Given the description of an element on the screen output the (x, y) to click on. 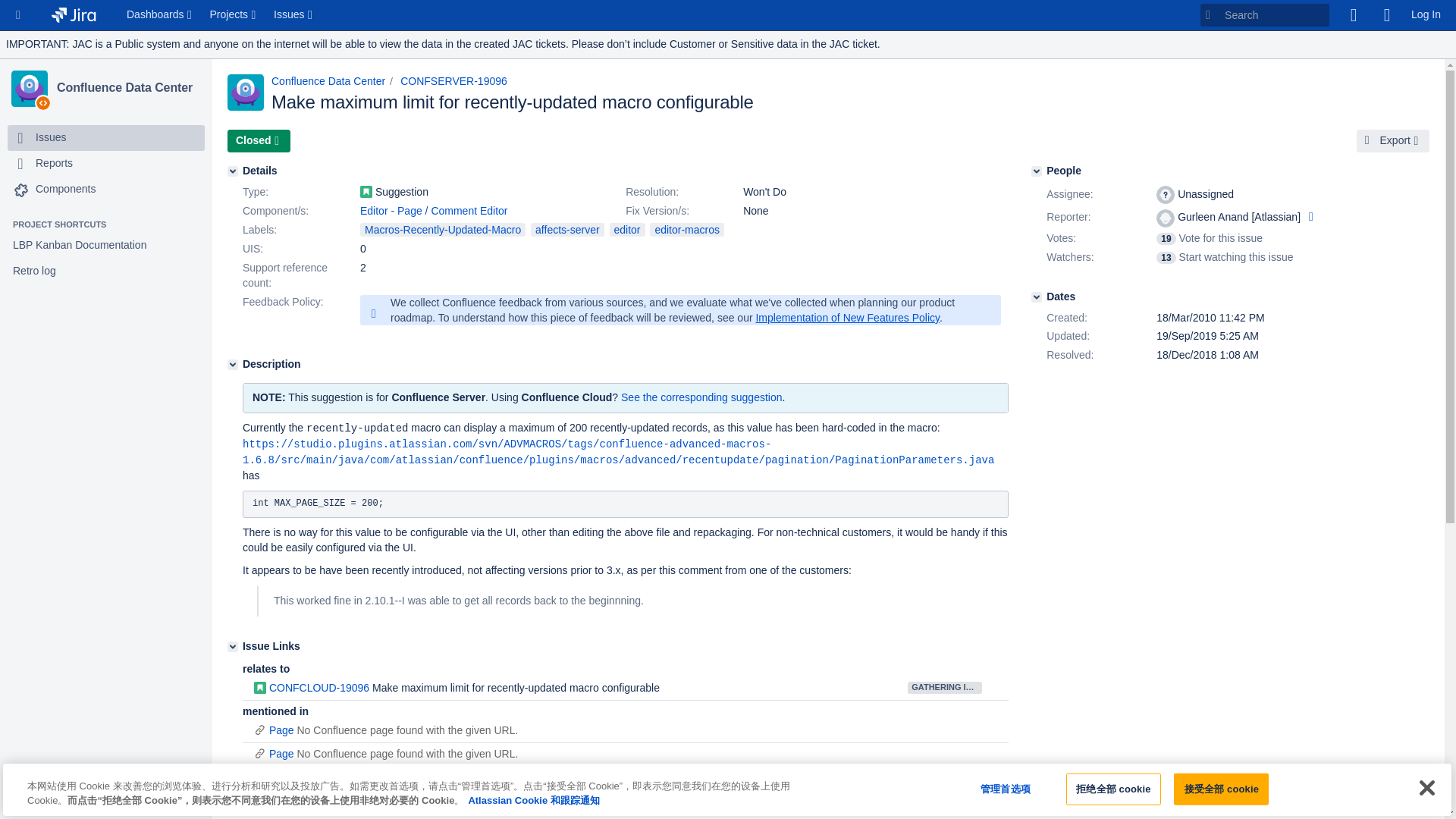
Issues (49, 137)
Issues (293, 15)
Confluence Data Center (127, 87)
Retro log (106, 271)
LBP Kanban Documentation (106, 245)
Search for issues and view recent issues (293, 15)
editor (627, 229)
Help (1386, 15)
Reports (106, 163)
Export this issue in another format (1392, 140)
Help (1386, 15)
Log In (1425, 15)
CONFSERVER-19096 (453, 80)
Confluence Data Center (127, 87)
Details (232, 171)
